Given the description of an element on the screen output the (x, y) to click on. 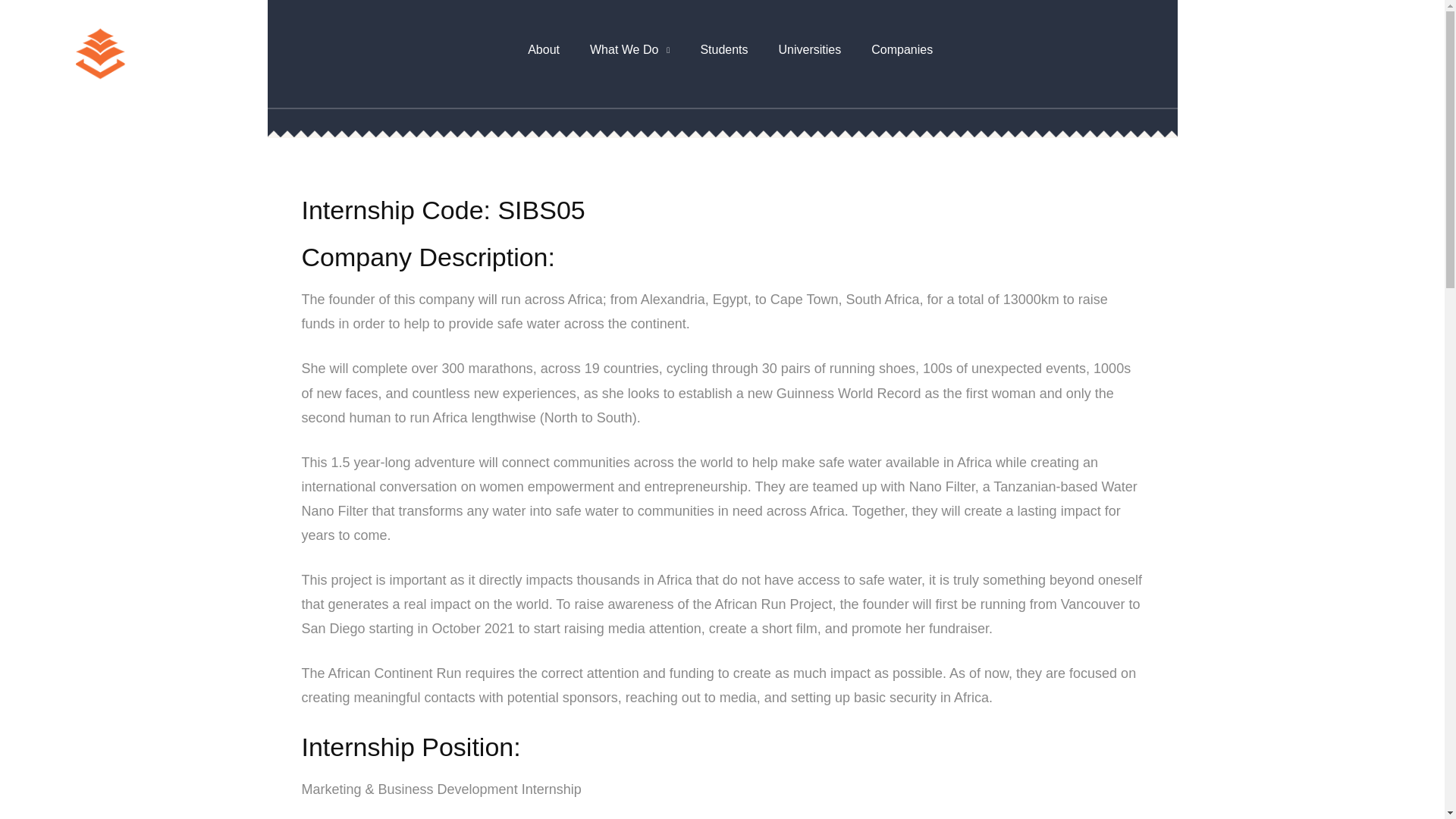
Companies (901, 54)
Students (723, 54)
CONTACT (1319, 53)
About (543, 54)
What We Do (629, 54)
Universities (809, 54)
